Given the description of an element on the screen output the (x, y) to click on. 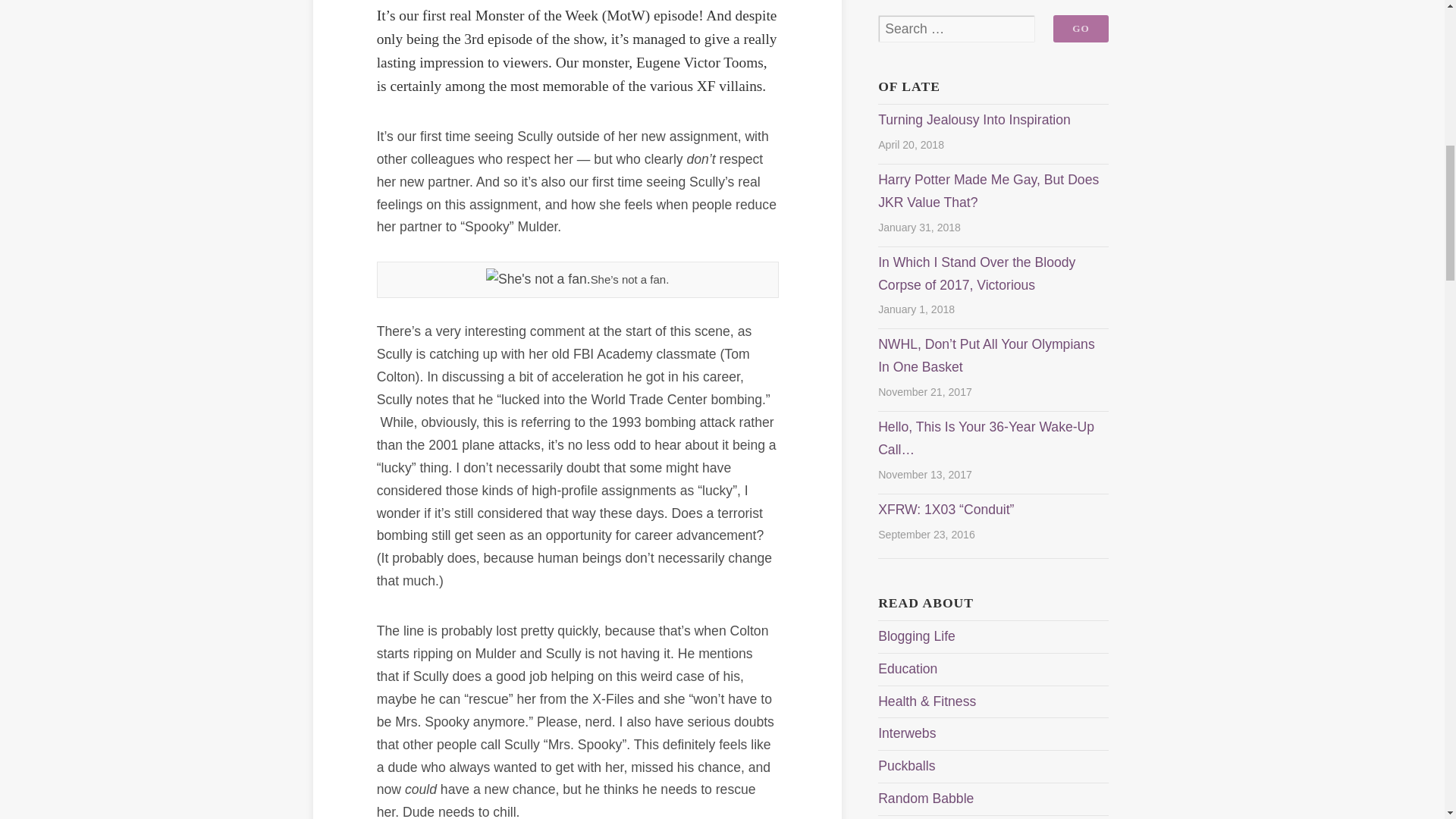
Blogging Life (916, 635)
Go (1080, 28)
Education (907, 668)
Go (1080, 28)
Harry Potter Made Me Gay, But Does JKR Value That? (988, 190)
In Which I Stand Over the Bloody Corpse of 2017, Victorious (976, 273)
Random Babble (925, 798)
Turning Jealousy Into Inspiration (973, 119)
Interwebs (906, 733)
Puckballs (905, 765)
